Given the description of an element on the screen output the (x, y) to click on. 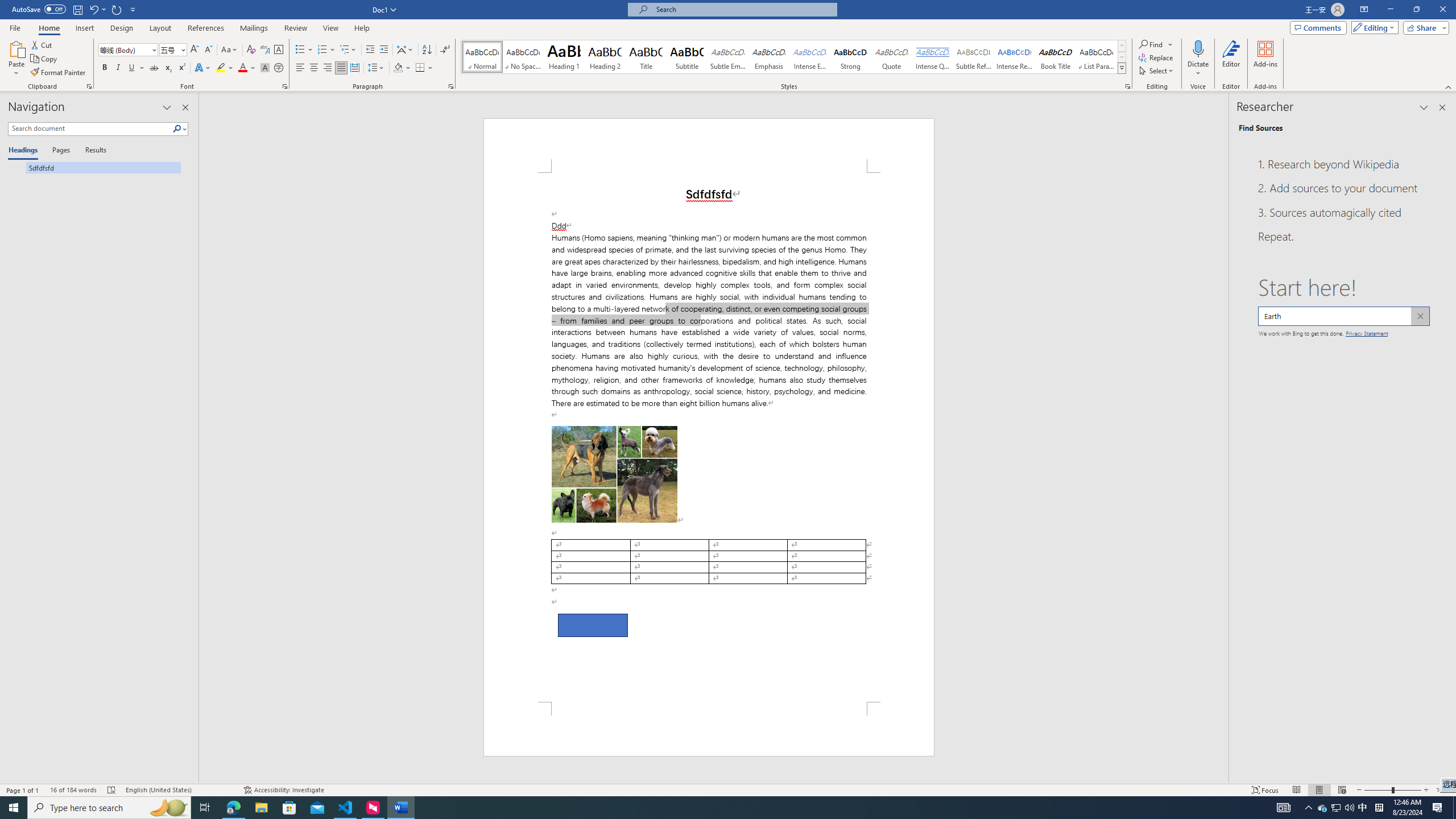
Borders (419, 67)
Format Painter (58, 72)
Show/Hide Editing Marks (444, 49)
Shrink Font (208, 49)
Paragraph... (450, 85)
Change Case (229, 49)
Text Effects and Typography (202, 67)
Save (77, 9)
Select (1157, 69)
Superscript (180, 67)
Heading 2 (605, 56)
Restore Down (1416, 9)
Find (1155, 44)
Emphasis (768, 56)
Shading (402, 67)
